Given the description of an element on the screen output the (x, y) to click on. 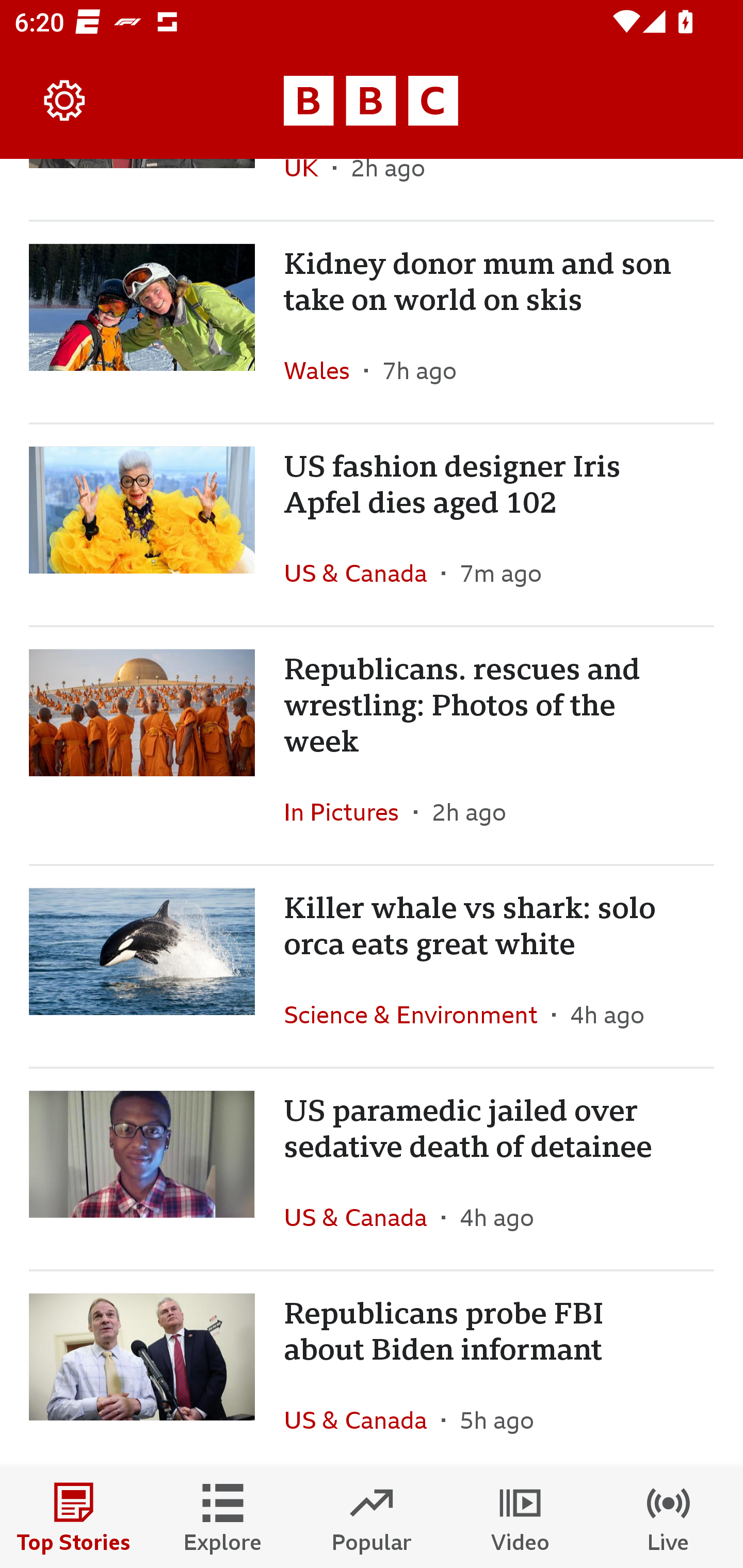
Settings (64, 100)
UK In the section UK 2h ago 2 Hours ago (371, 188)
UK In the section UK (307, 188)
Wales In the section Wales (323, 369)
US & Canada In the section US & Canada (362, 572)
In Pictures In the section In Pictures (348, 811)
US & Canada In the section US & Canada (362, 1217)
US & Canada In the section US & Canada (362, 1417)
Explore (222, 1517)
Popular (371, 1517)
Video (519, 1517)
Live (668, 1517)
